Given the description of an element on the screen output the (x, y) to click on. 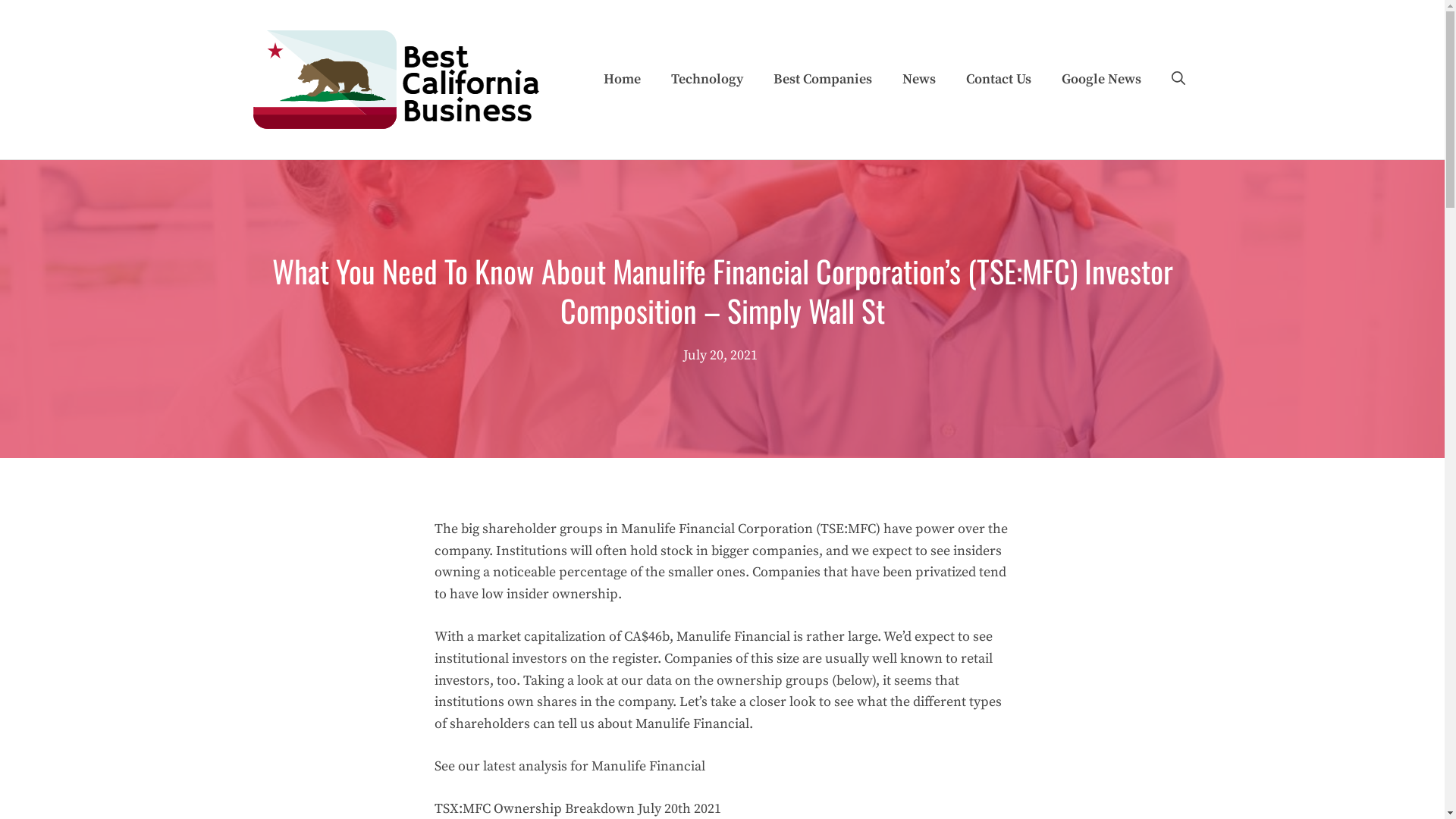
Technology Element type: text (706, 79)
Best Companies Element type: text (822, 79)
News Element type: text (918, 79)
Contact Us Element type: text (998, 79)
Home Element type: text (621, 79)
Google News Element type: text (1101, 79)
